Given the description of an element on the screen output the (x, y) to click on. 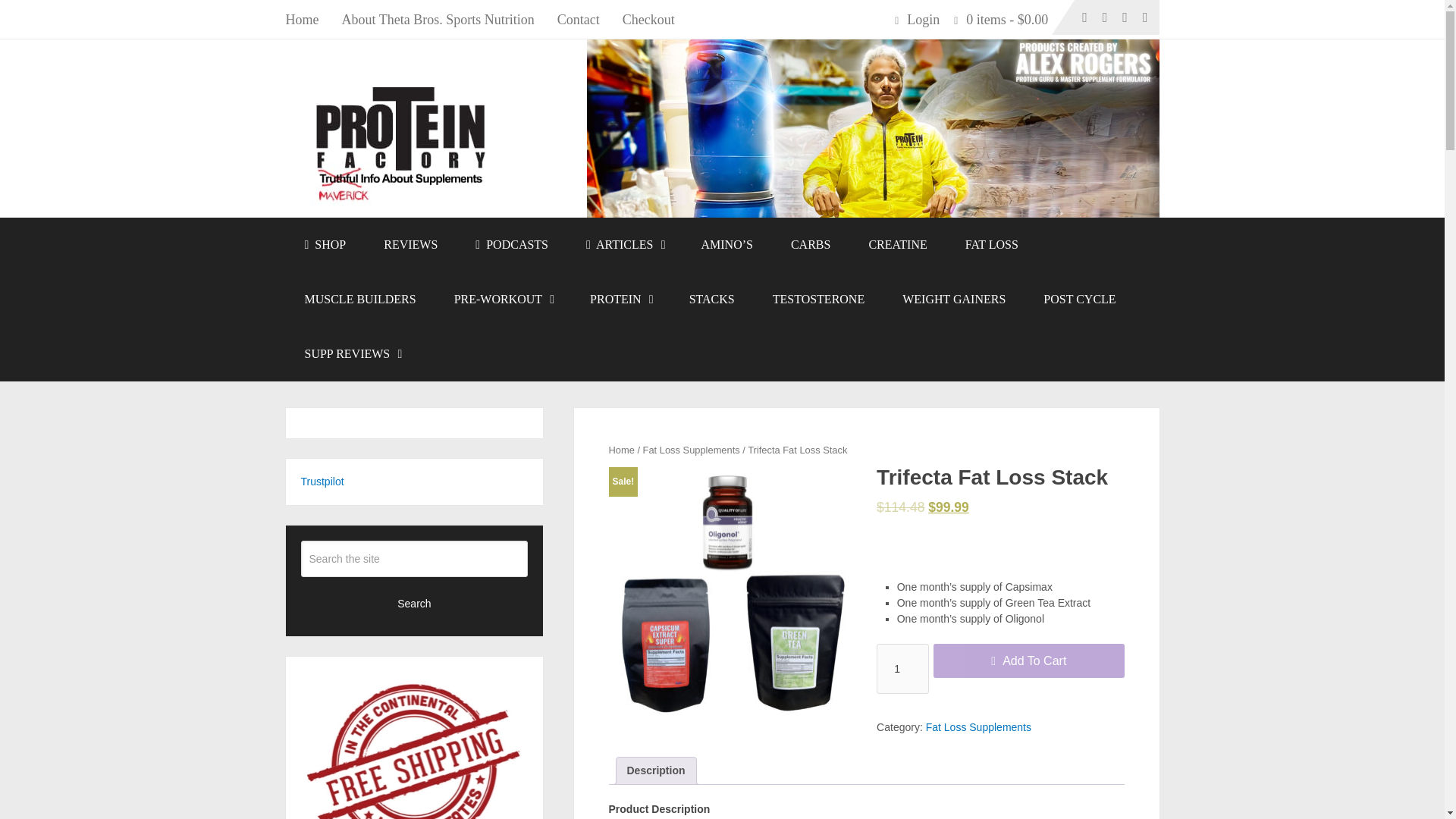
PODCASTS (512, 244)
About Theta Bros. Sports Nutrition (438, 19)
FAT LOSS (991, 244)
new 1 (732, 590)
View your shopping cart (1005, 19)
Login (927, 19)
Contact (578, 19)
CARBS (809, 244)
CREATINE (896, 244)
REVIEWS (411, 244)
